Given the description of an element on the screen output the (x, y) to click on. 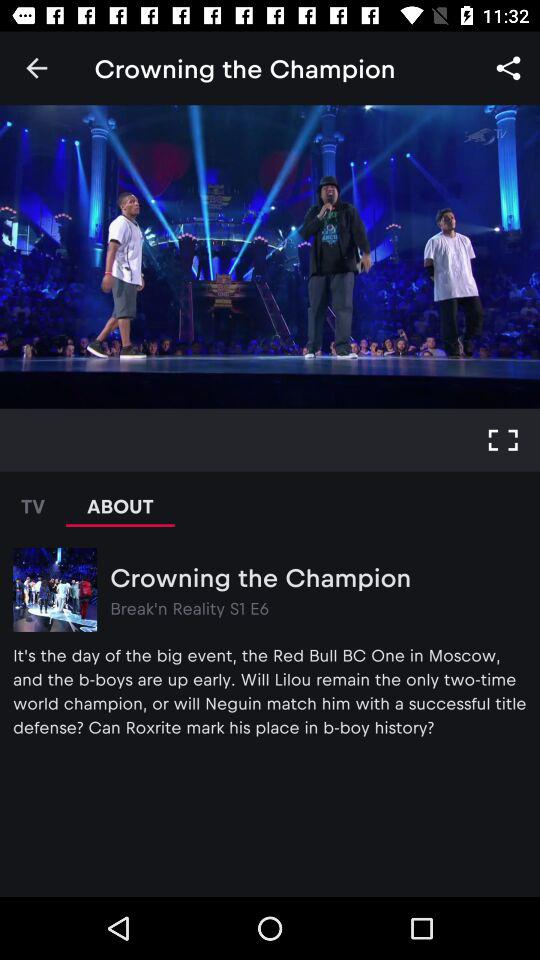
option right to tv option (119, 499)
